Given the description of an element on the screen output the (x, y) to click on. 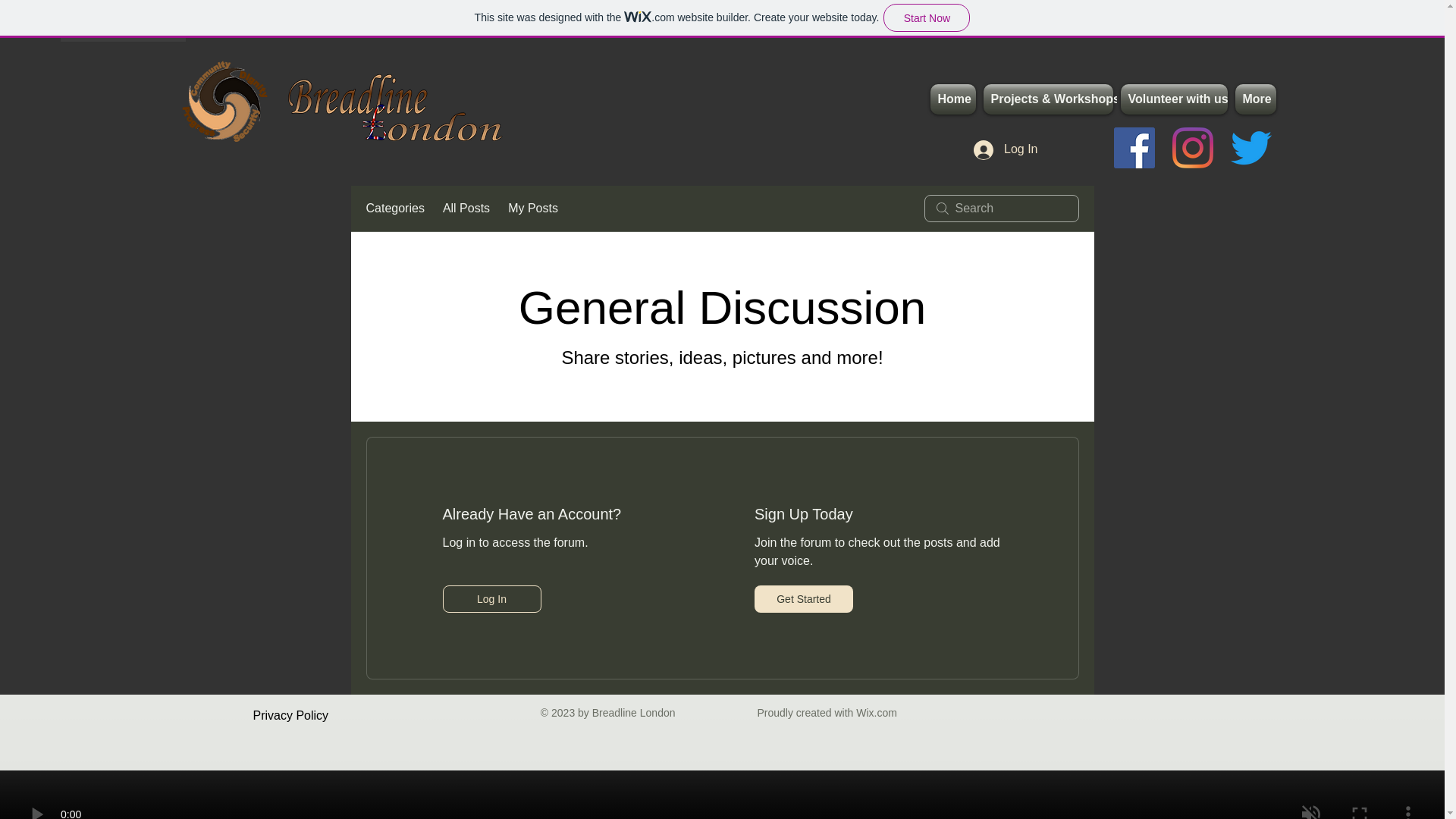
My Posts (532, 208)
Volunteer with us (1173, 99)
Log In (491, 598)
Get Started (803, 598)
Proudly created with Wix.com (826, 712)
Log In (1005, 149)
All Posts (465, 208)
Categories (394, 208)
Home (954, 99)
